Given the description of an element on the screen output the (x, y) to click on. 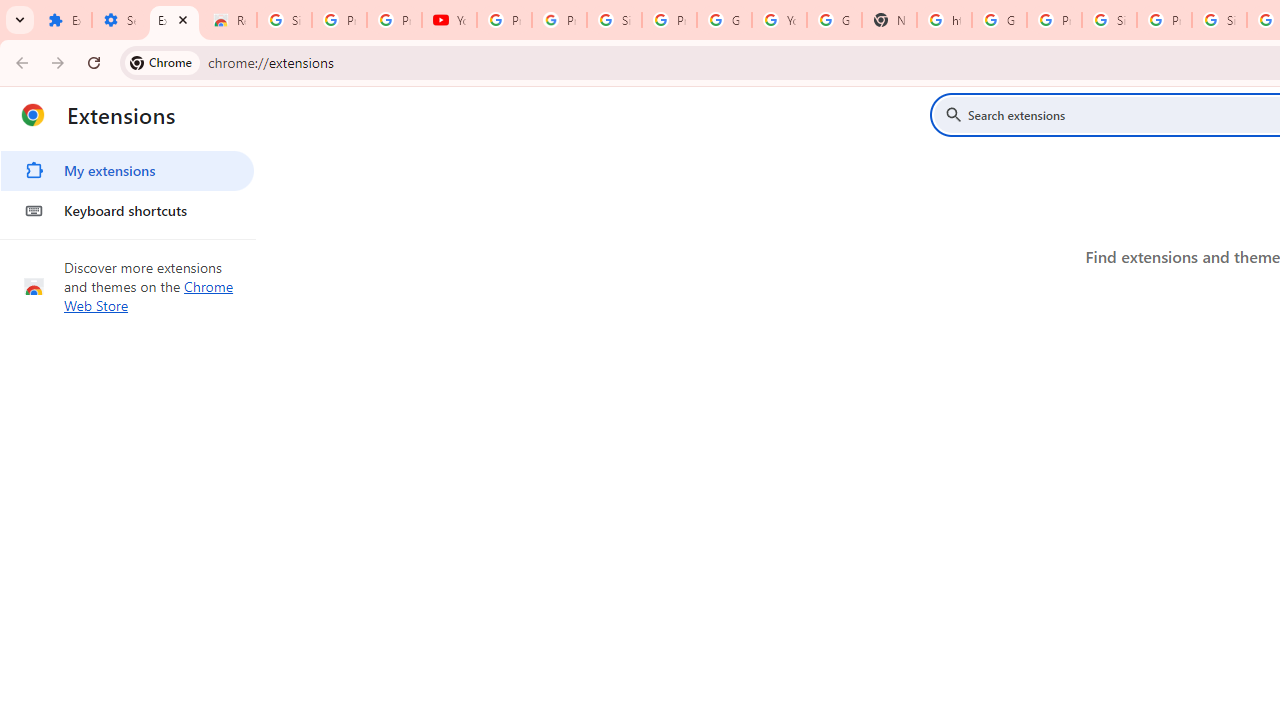
Sign in - Google Accounts (614, 20)
Reviews: Helix Fruit Jump Arcade Game (229, 20)
My extensions (127, 170)
https://scholar.google.com/ (943, 20)
Extensions (64, 20)
Google Account (724, 20)
New Tab (888, 20)
YouTube (779, 20)
Sign in - Google Accounts (1108, 20)
